Given the description of an element on the screen output the (x, y) to click on. 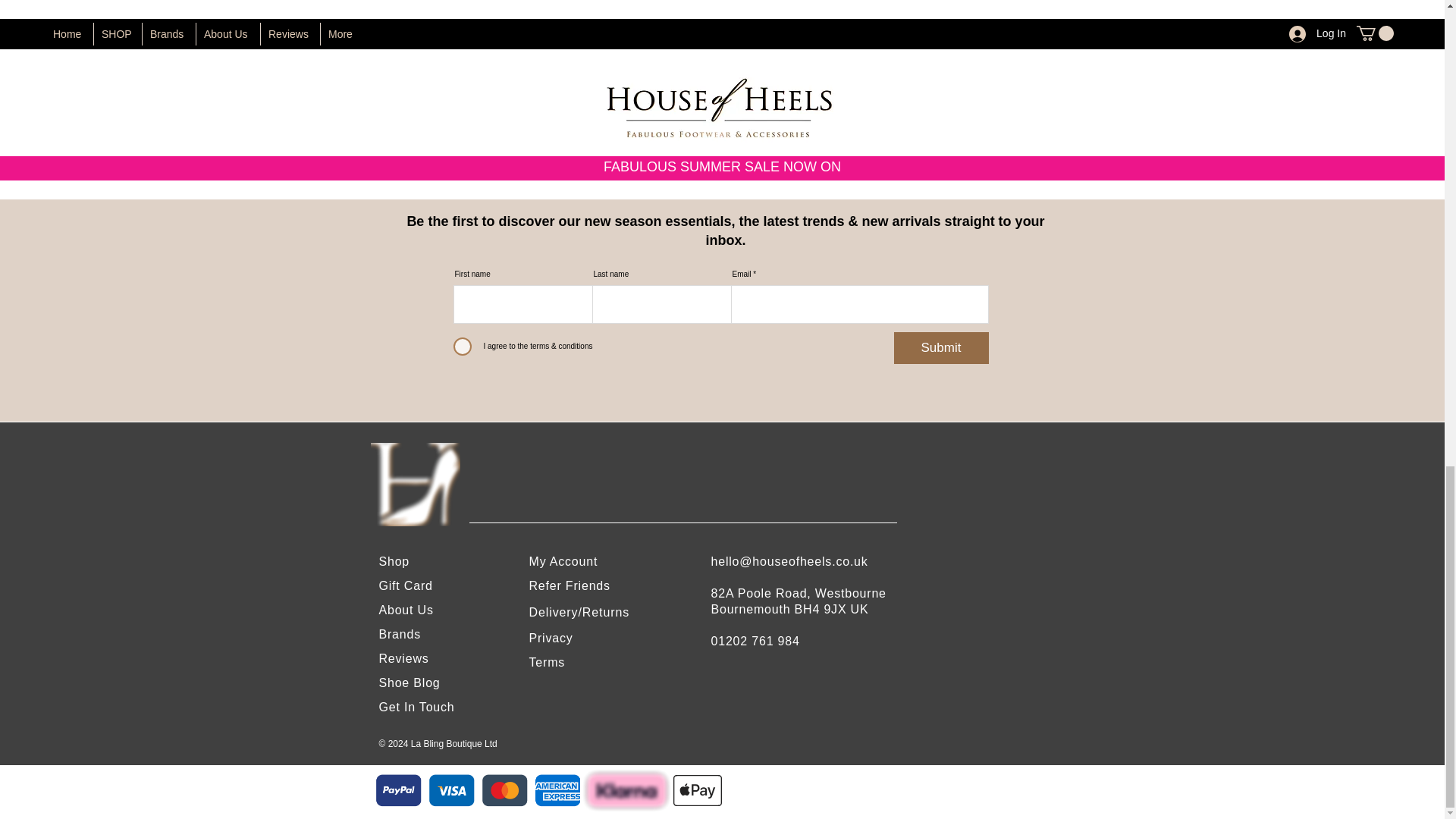
About Us (405, 609)
Gift Card (405, 585)
Brands (400, 634)
Privacy (551, 637)
Shoe Blog (409, 682)
Reviews (403, 658)
Terms (547, 662)
Shop (394, 561)
Shop NeroGiardini Shoes Now (721, 107)
Get In Touch (416, 707)
My Account (563, 561)
Submit (940, 347)
Refer Friends (569, 585)
